Given the description of an element on the screen output the (x, y) to click on. 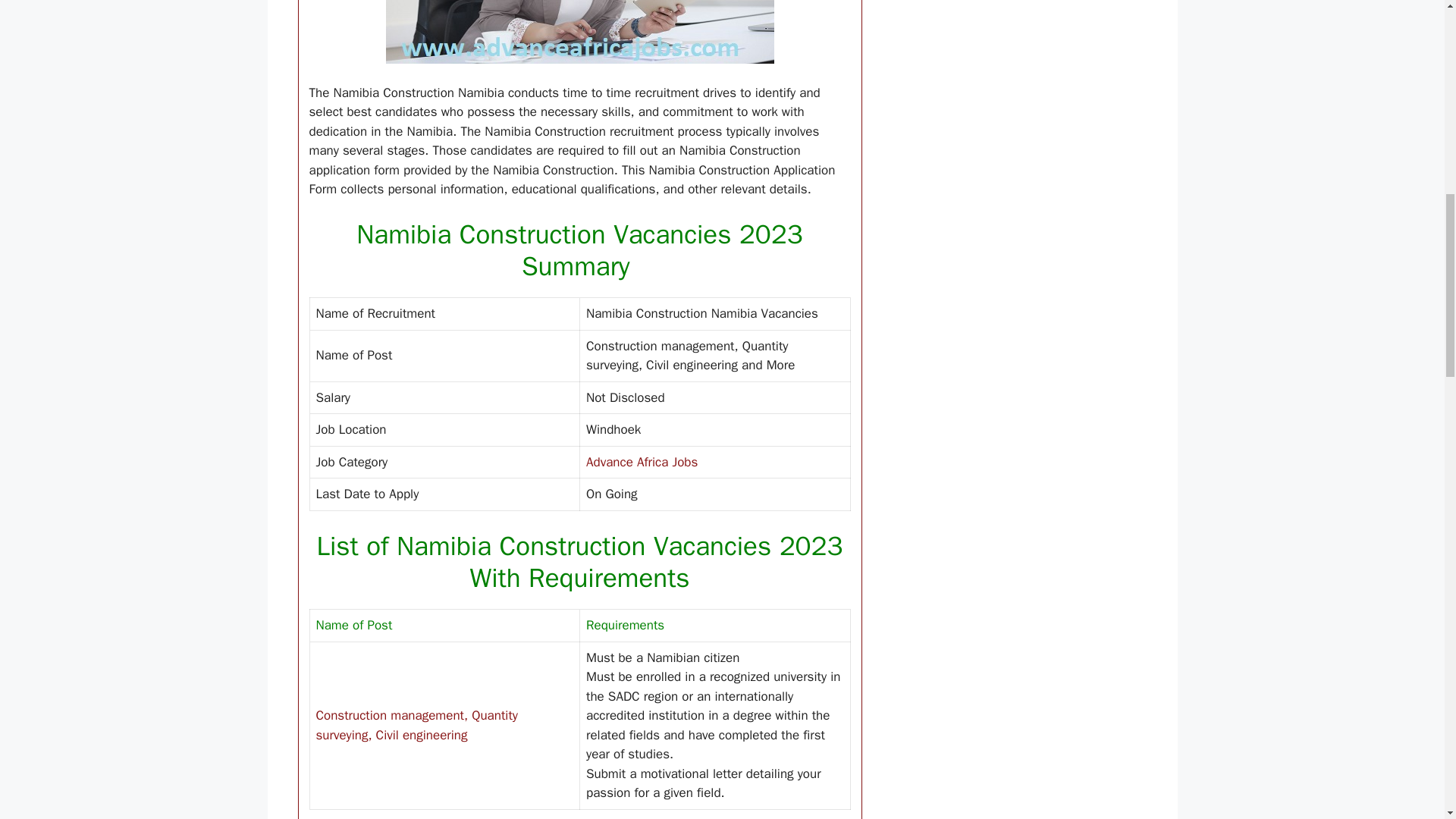
Namibia Construction Vacancies (579, 31)
Advance Africa Jobs (641, 462)
